Given the description of an element on the screen output the (x, y) to click on. 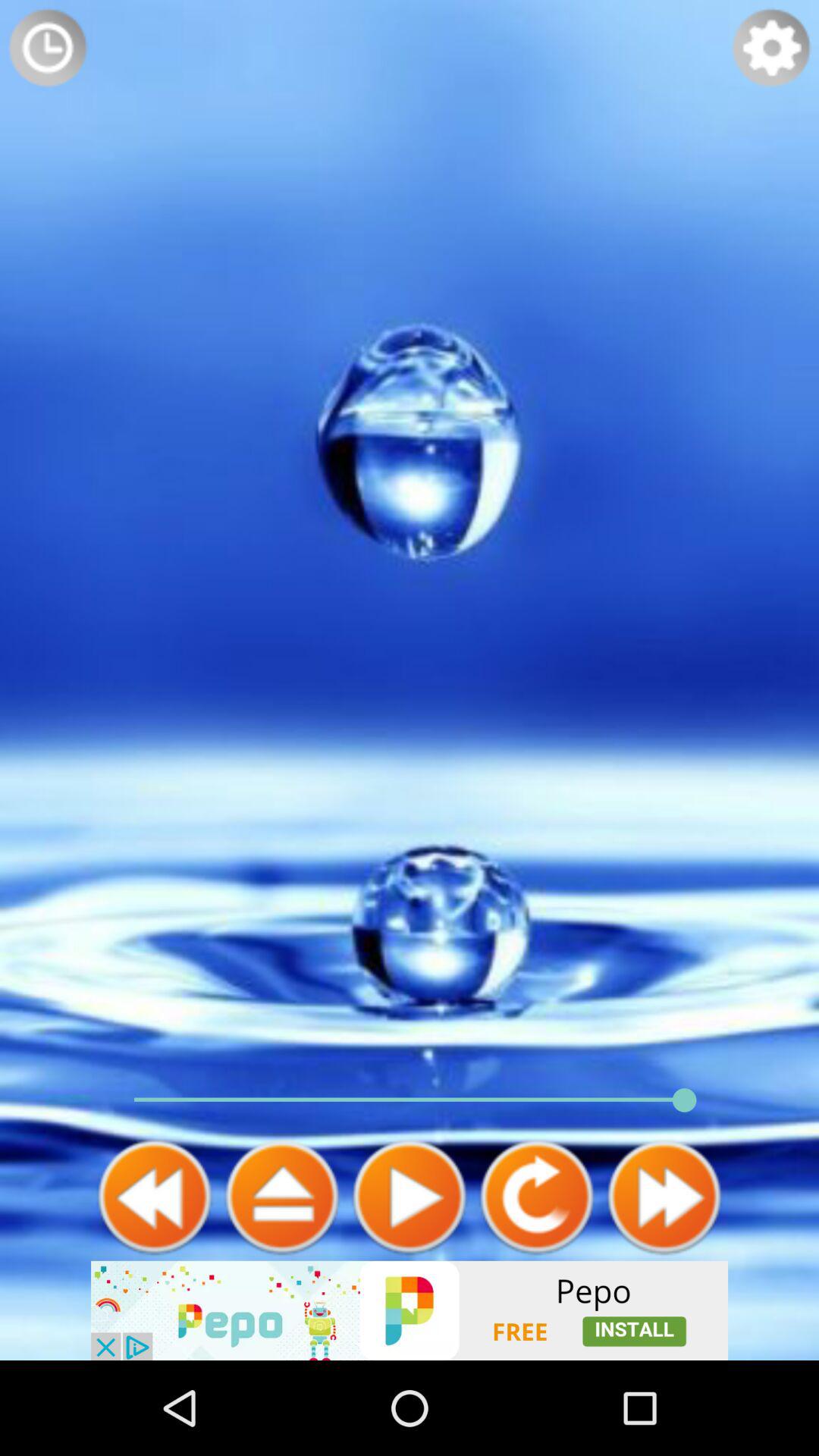
back face (154, 1196)
